Given the description of an element on the screen output the (x, y) to click on. 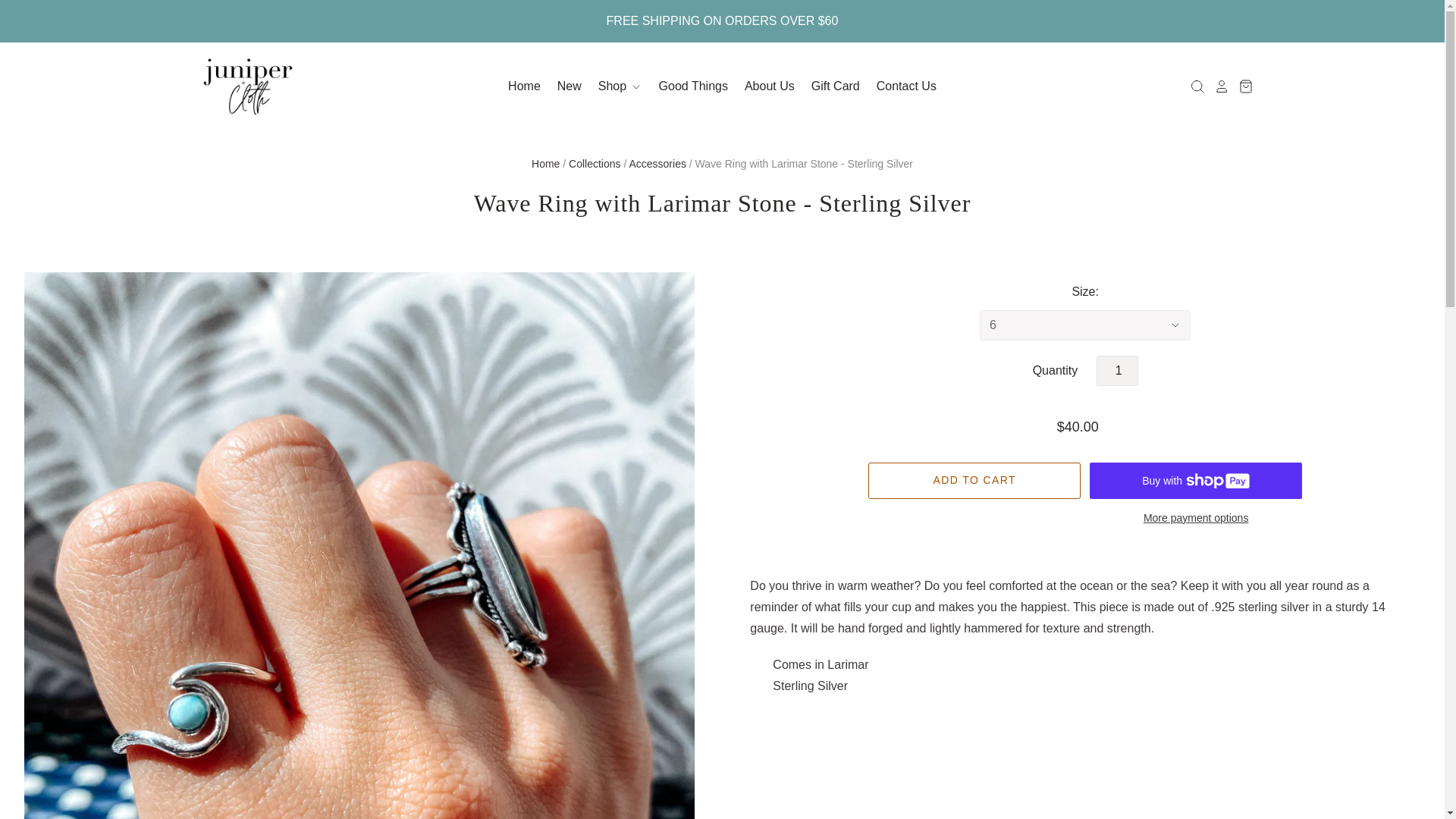
1 (1117, 370)
Add to cart (973, 480)
